Given the description of an element on the screen output the (x, y) to click on. 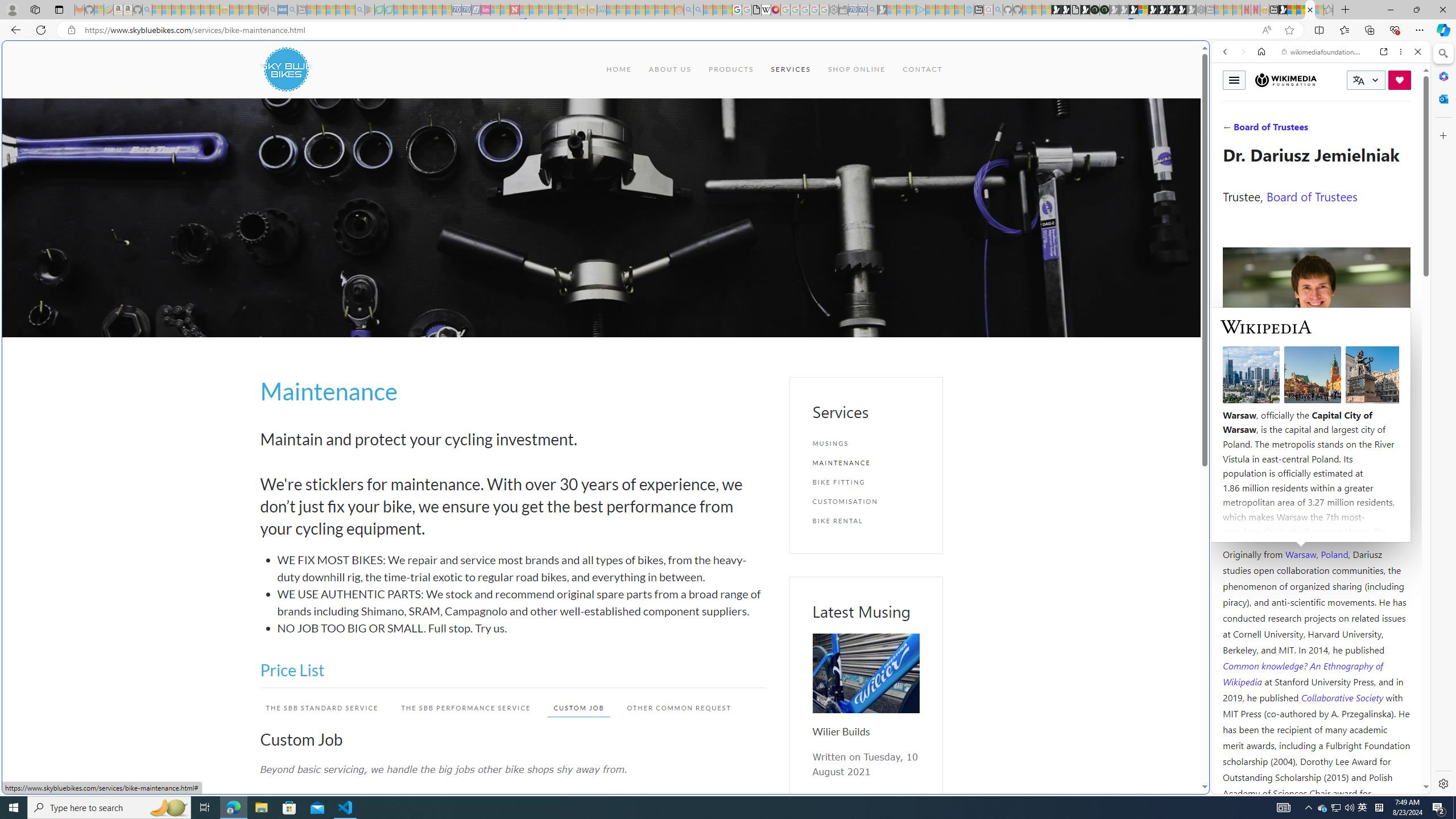
Bing Real Estate - Home sales and rental listings - Sleeping (872, 9)
Poland (1334, 554)
Bluey: Let's Play! - Apps on Google Play - Sleeping (369, 9)
Home | Sky Blue Bikes - Sky Blue Bikes (1118, 242)
OTHER COMMON REQUEST (678, 707)
CUSTOMISATION (865, 501)
BIKE RENTAL (865, 520)
Search Filter, WEB (1230, 129)
